Given the description of an element on the screen output the (x, y) to click on. 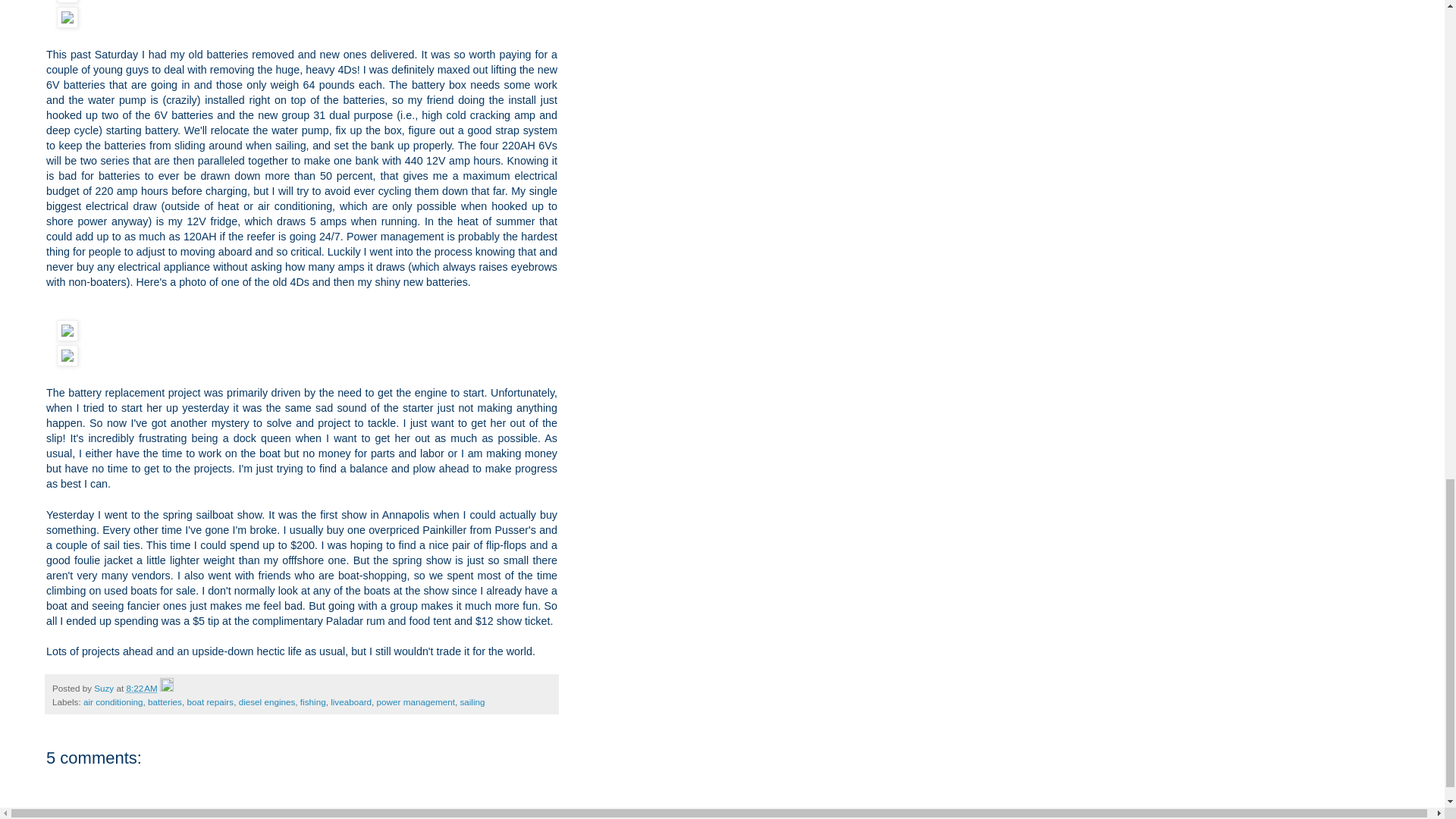
power management (415, 701)
permanent link (141, 687)
boat repairs (209, 701)
author profile (105, 687)
fishing (312, 701)
Edit Post (166, 687)
sailing (472, 701)
Suzy (105, 687)
diesel engines (266, 701)
liveaboard (350, 701)
batteries (165, 701)
air conditioning (112, 701)
